Given the description of an element on the screen output the (x, y) to click on. 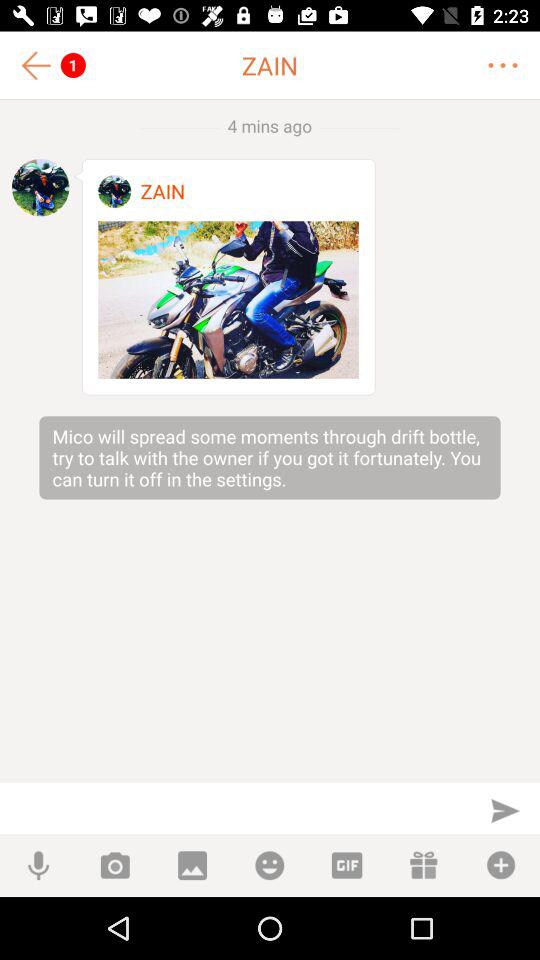
go to gifs section (346, 865)
